Given the description of an element on the screen output the (x, y) to click on. 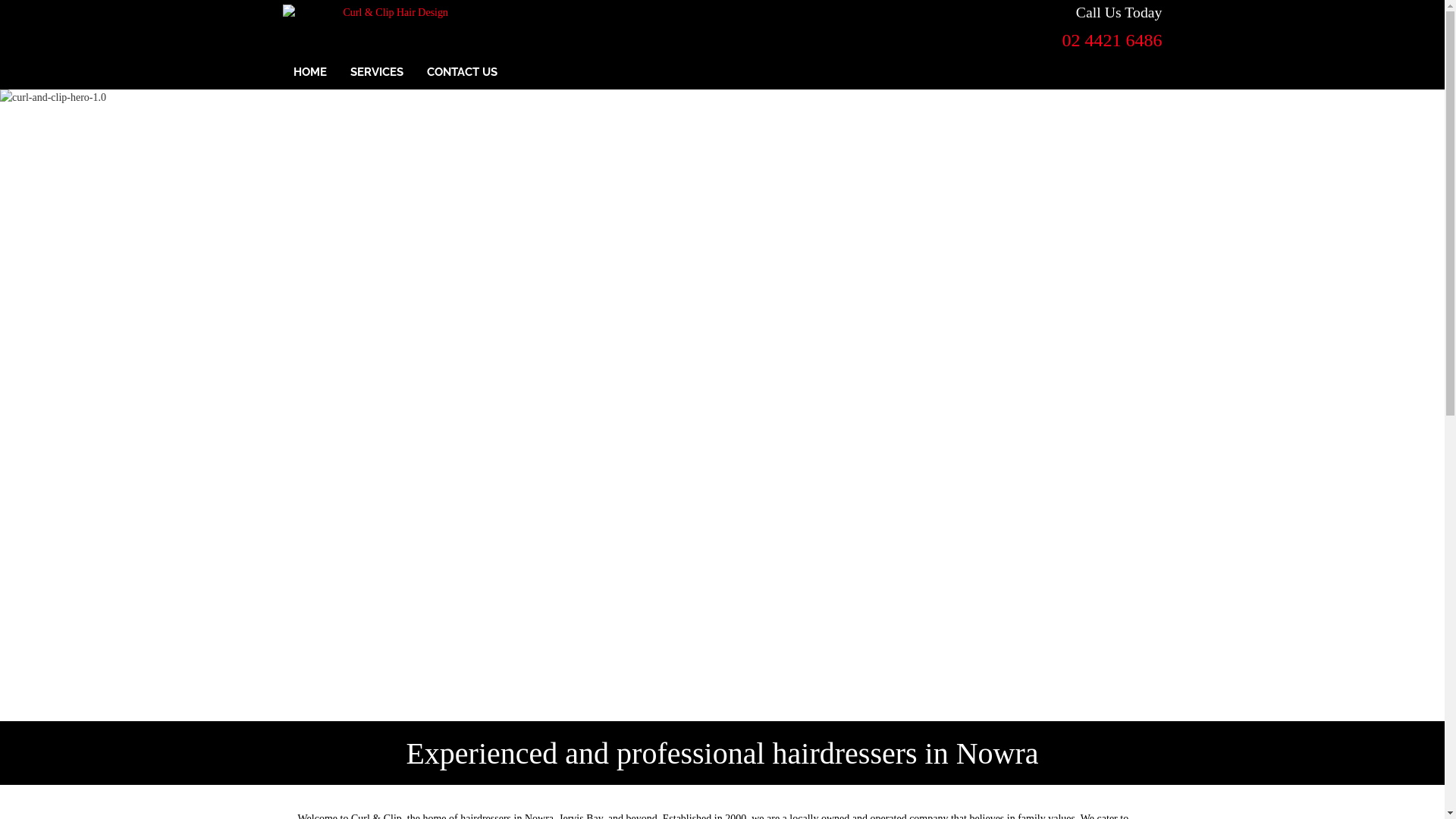
CONTACT US Element type: text (461, 72)
02 4421 6486 Element type: text (1111, 40)
SERVICES Element type: text (376, 72)
HOME Element type: text (309, 72)
Curl & Clip Hair Design Element type: hover (389, 12)
curl-and-clip-hero-1.0 Element type: hover (722, 405)
